Given the description of an element on the screen output the (x, y) to click on. 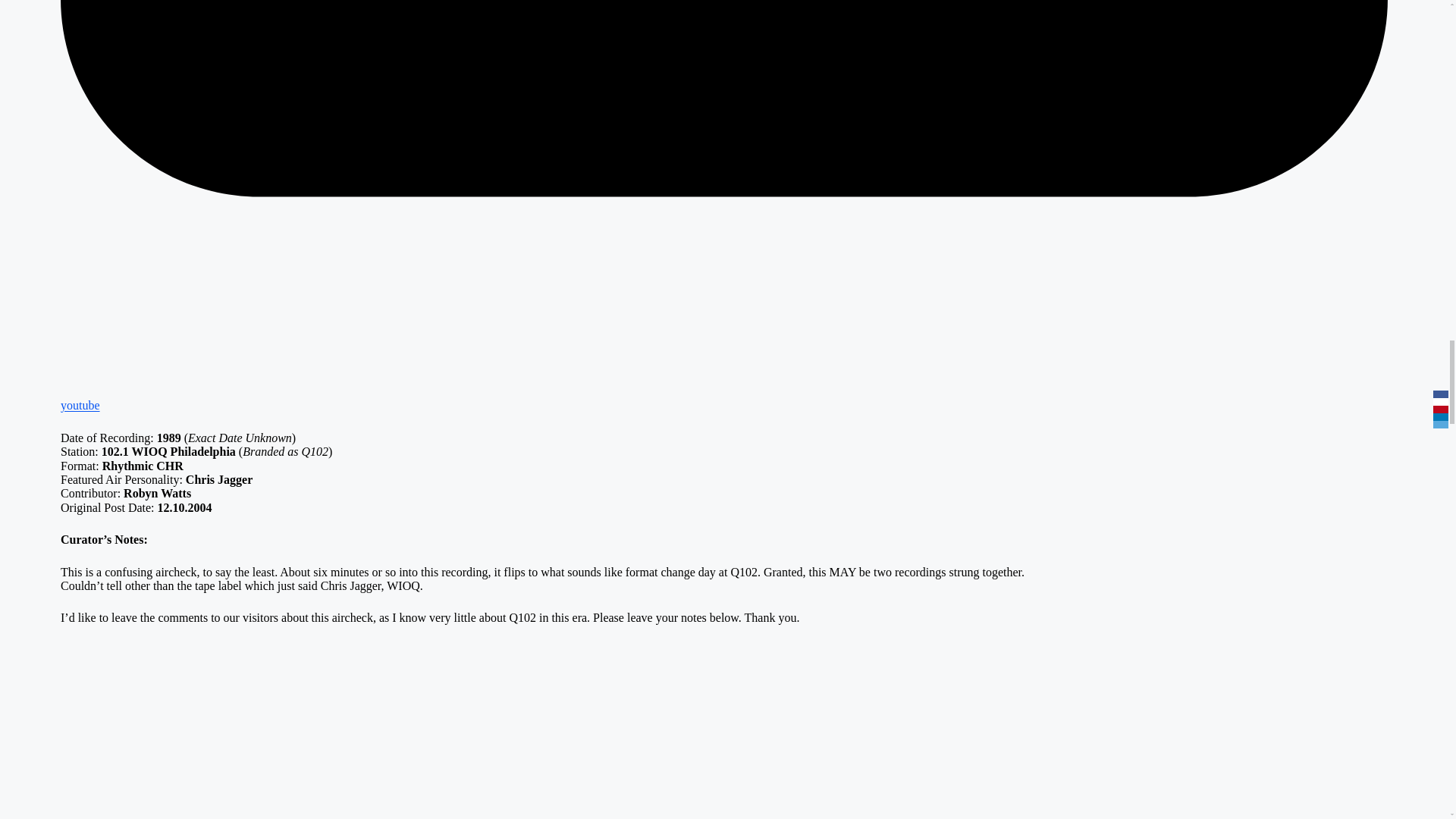
youtube (724, 397)
